Given the description of an element on the screen output the (x, y) to click on. 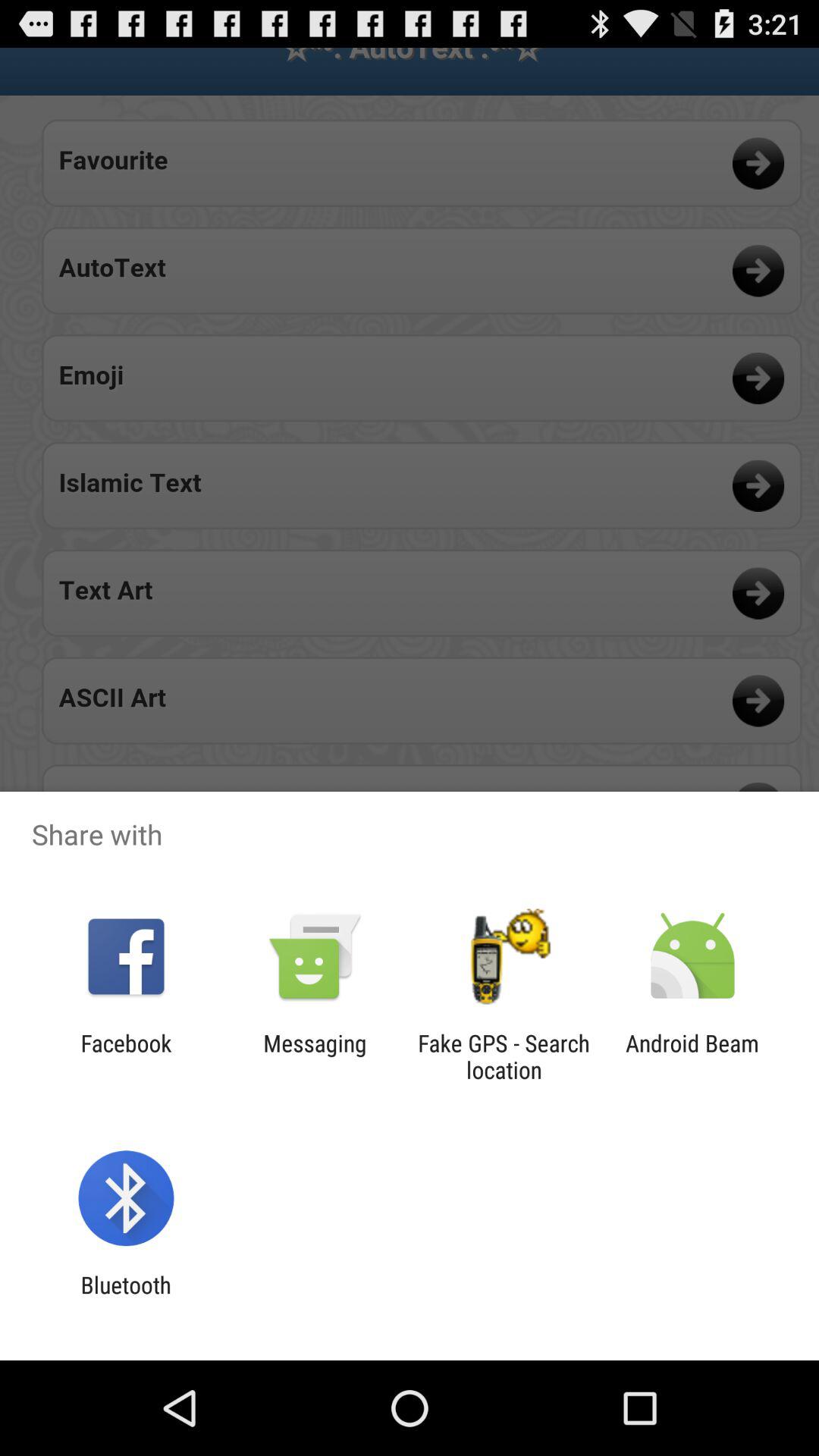
open the app to the left of fake gps search item (314, 1056)
